Given the description of an element on the screen output the (x, y) to click on. 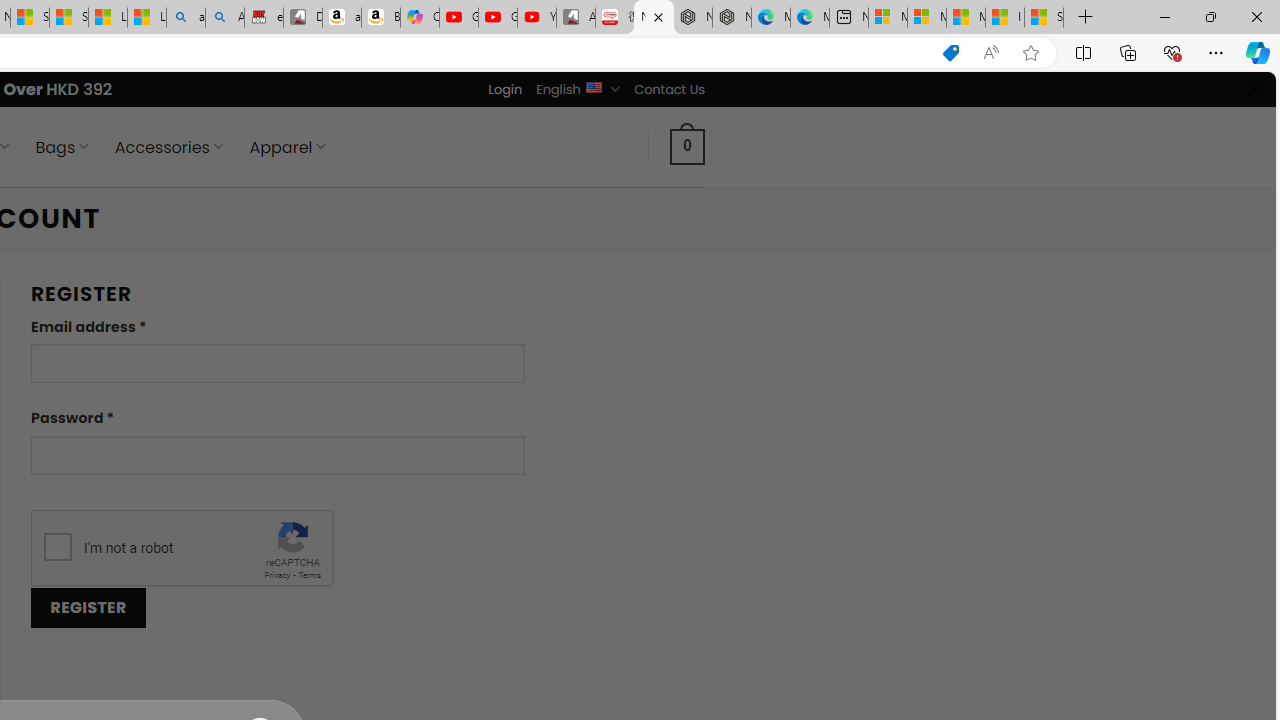
Copilot (419, 17)
I Gained 20 Pounds of Muscle in 30 Days! | Watch (1004, 17)
Contact Us (669, 89)
This site has coupons! Shopping in Microsoft Edge (950, 53)
